Given the description of an element on the screen output the (x, y) to click on. 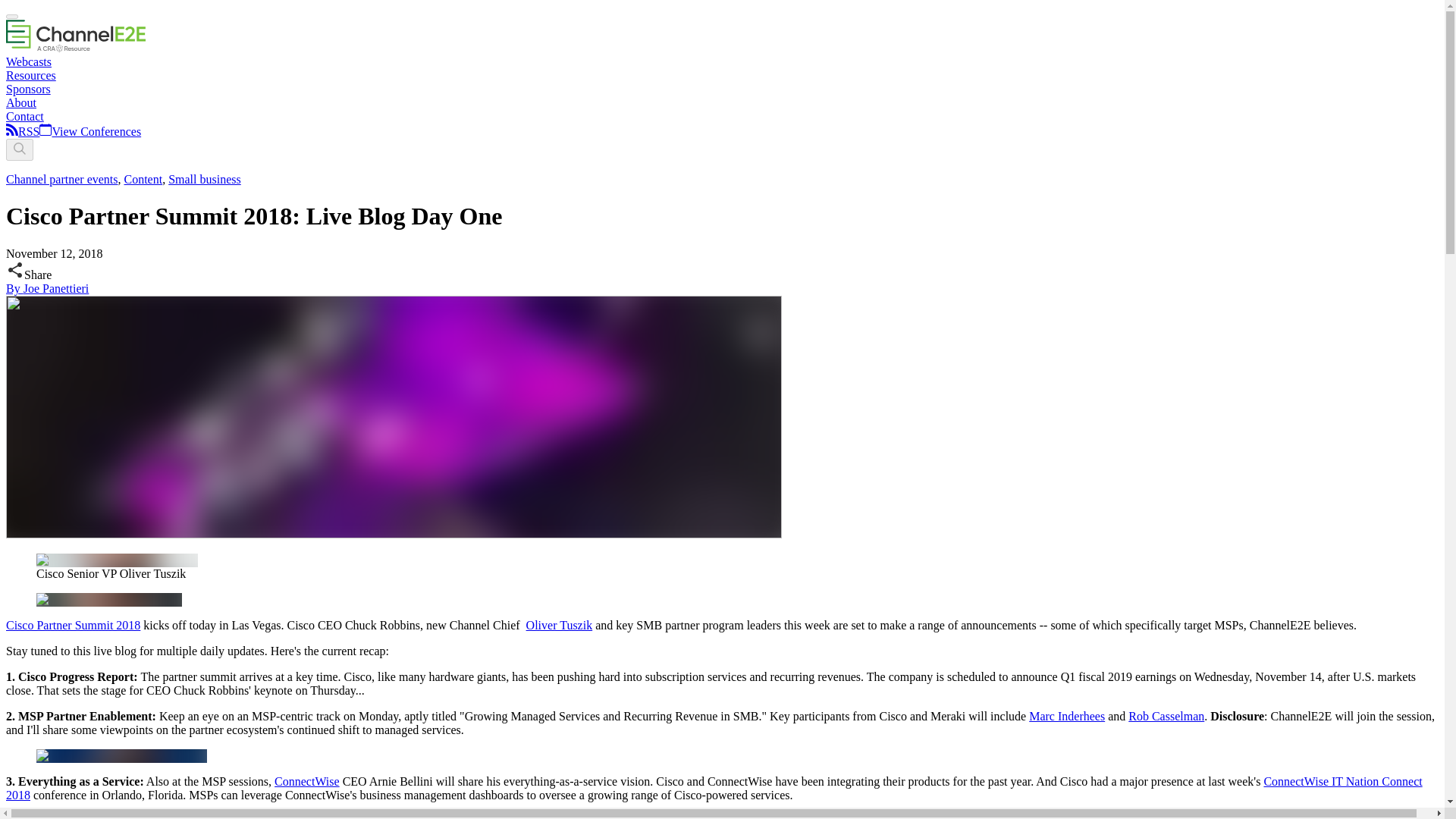
RSS (28, 131)
Contact (24, 115)
About (20, 102)
Rob Casselman (1166, 716)
View Cybersecurity Conference Calendar (90, 131)
RSS Feed for ChannelE2E Latest Articles (11, 131)
By Joe Panettieri (46, 287)
ChannelE2E (75, 47)
Resources (30, 74)
ConnectWise (307, 780)
